Given the description of an element on the screen output the (x, y) to click on. 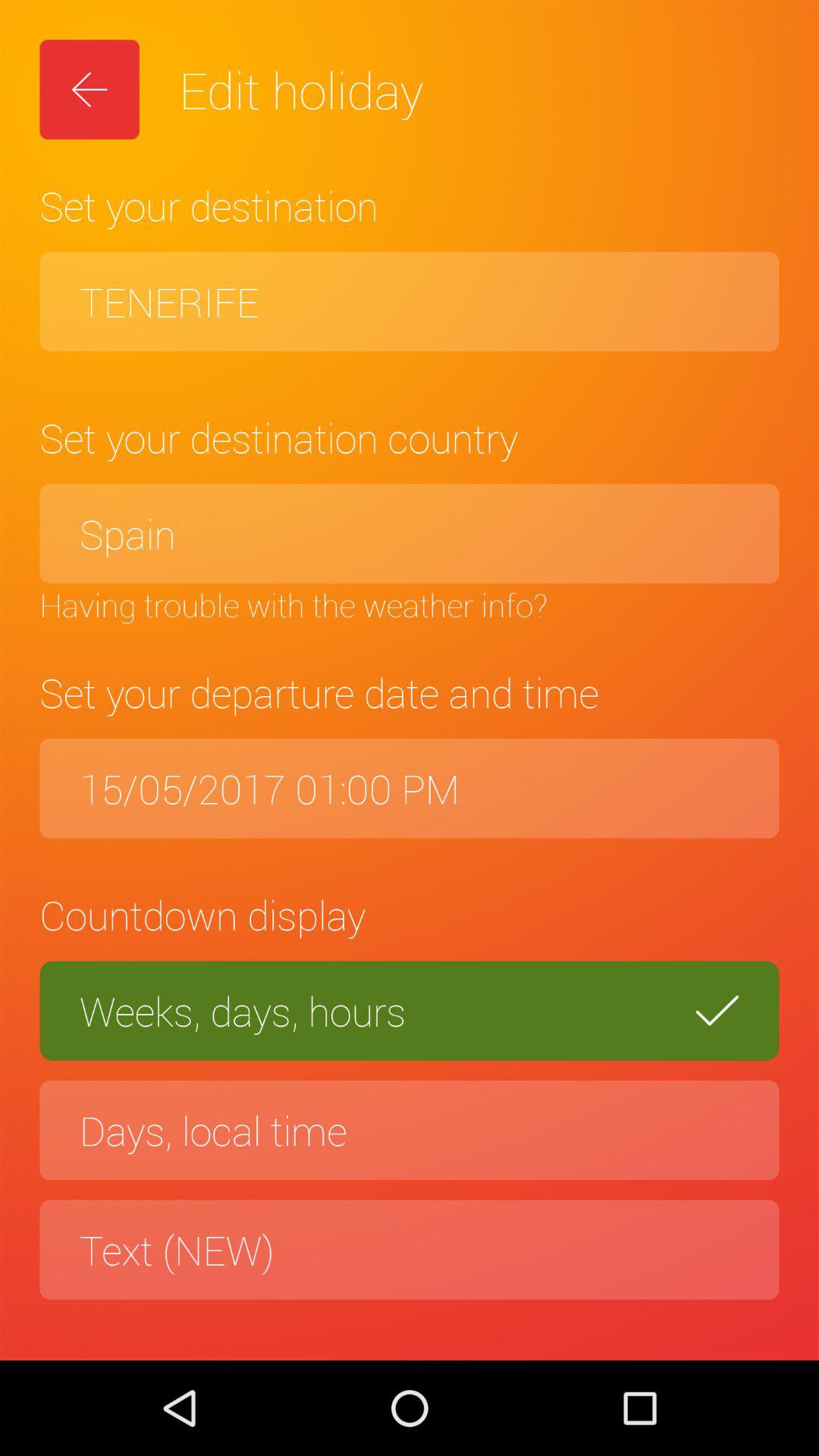
tap the icon below the set your departure (409, 788)
